Given the description of an element on the screen output the (x, y) to click on. 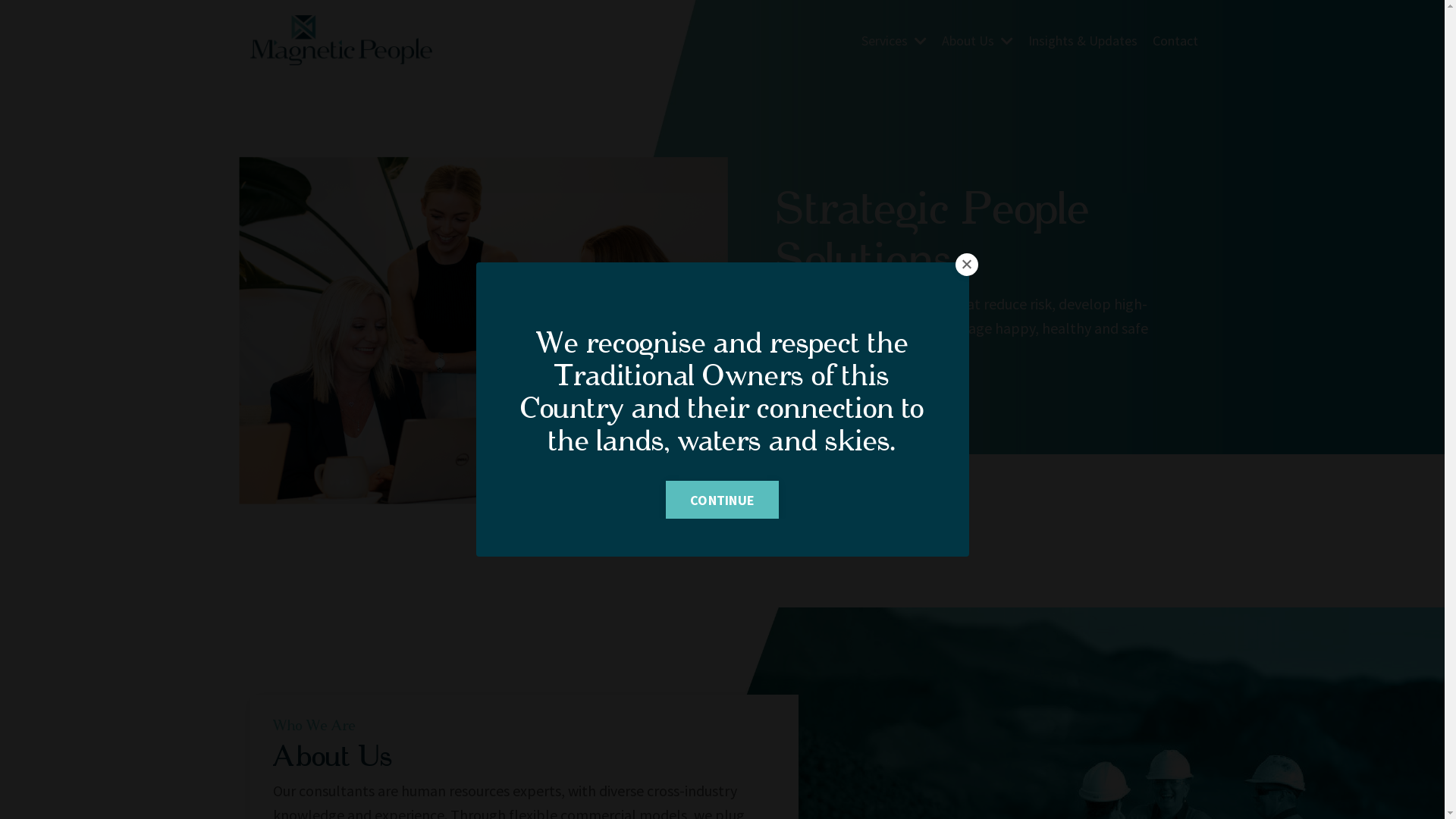
Insights & Updates Element type: text (1082, 41)
Contact Element type: text (1175, 41)
CONTINUE Element type: text (721, 499)
Services Element type: text (893, 41)
About Us Element type: text (977, 41)
